Given the description of an element on the screen output the (x, y) to click on. 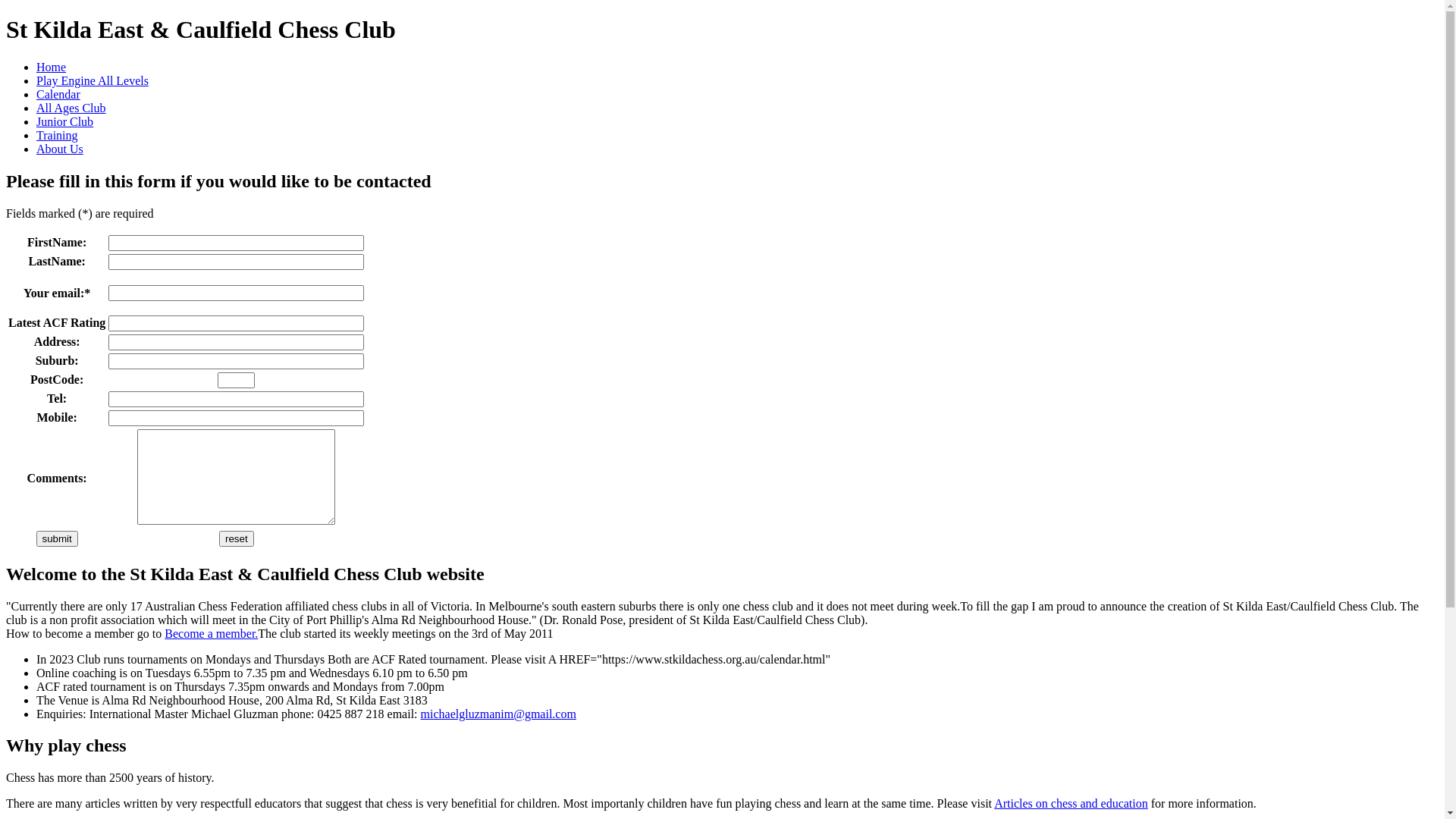
michaelgluzmanim@gmail.com Element type: text (498, 712)
Training Element type: text (57, 134)
Calendar Element type: text (58, 93)
Junior Club Element type: text (64, 121)
Home Element type: text (50, 66)
Become a member. Element type: text (210, 632)
Articles on chess and education Element type: text (1071, 803)
Play Engine All Levels Element type: text (92, 80)
All Ages Club Element type: text (71, 107)
About Us Element type: text (59, 148)
submit Element type: text (57, 538)
